Given the description of an element on the screen output the (x, y) to click on. 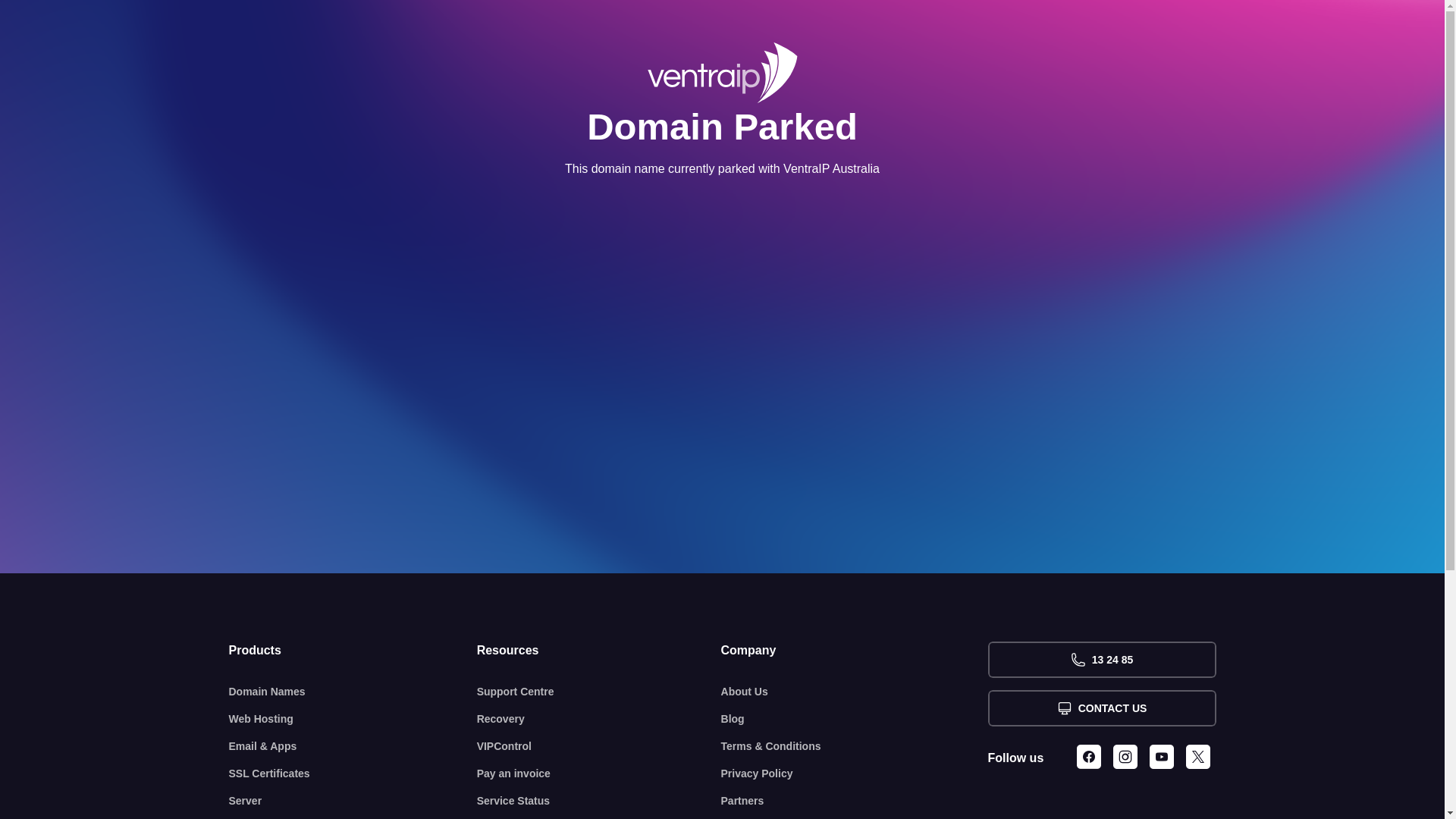
Pay an invoice Element type: text (598, 773)
Domain Names Element type: text (352, 691)
Email & Apps Element type: text (352, 745)
Web Hosting Element type: text (352, 718)
Partners Element type: text (854, 800)
Recovery Element type: text (598, 718)
VIPControl Element type: text (598, 745)
Terms & Conditions Element type: text (854, 745)
Service Status Element type: text (598, 800)
About Us Element type: text (854, 691)
Privacy Policy Element type: text (854, 773)
CONTACT US Element type: text (1101, 708)
Support Centre Element type: text (598, 691)
Server Element type: text (352, 800)
SSL Certificates Element type: text (352, 773)
Blog Element type: text (854, 718)
13 24 85 Element type: text (1101, 659)
